Given the description of an element on the screen output the (x, y) to click on. 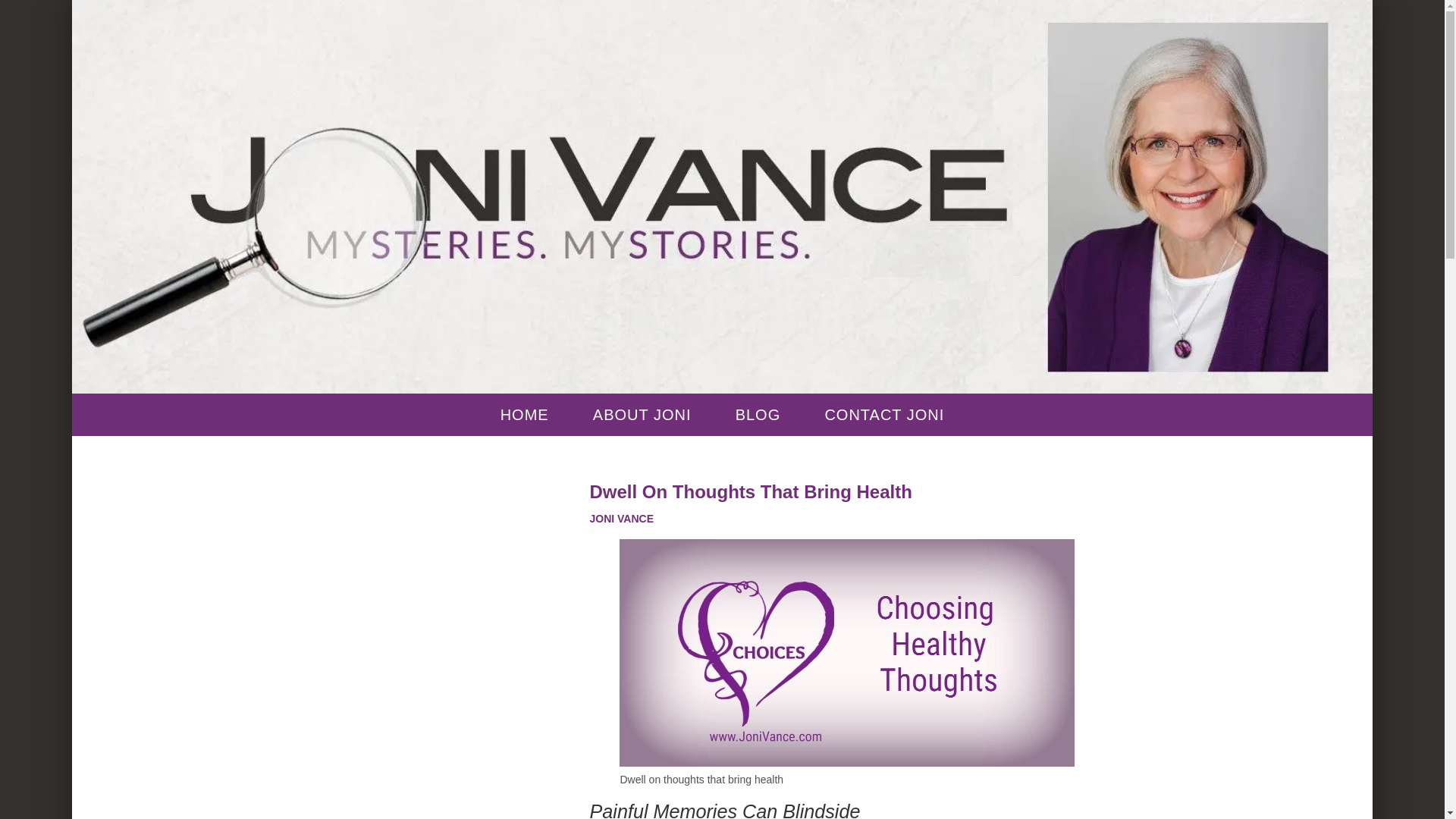
CONTACT JONI (884, 414)
JONI VANCE (621, 518)
ABOUT JONI (641, 414)
HOME (524, 414)
BLOG (758, 414)
